Given the description of an element on the screen output the (x, y) to click on. 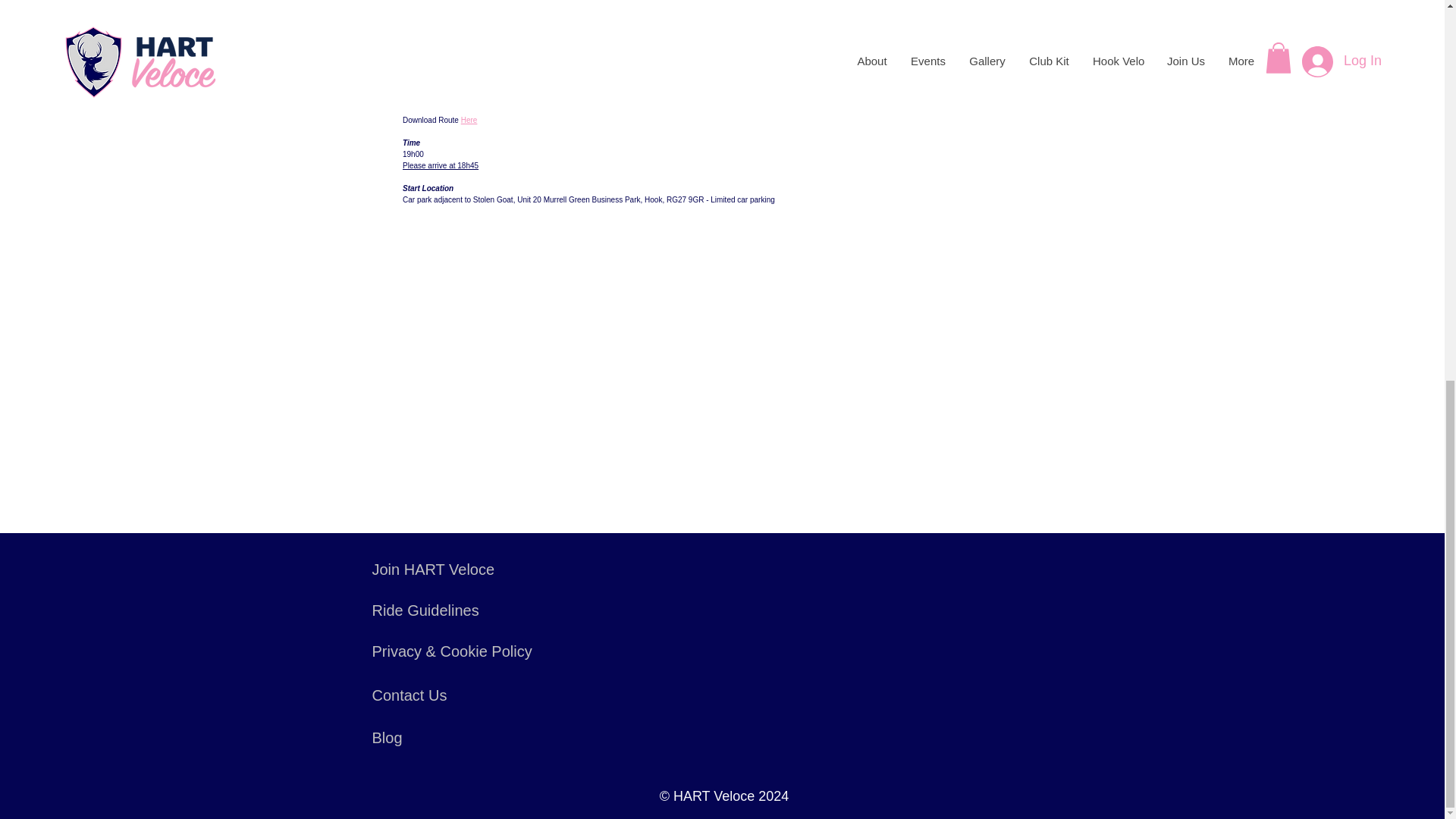
Here (469, 120)
Blog (386, 737)
Contact Us (408, 695)
Join HART Veloce (433, 569)
See all (504, 7)
Ride Guidelines (425, 610)
